Given the description of an element on the screen output the (x, y) to click on. 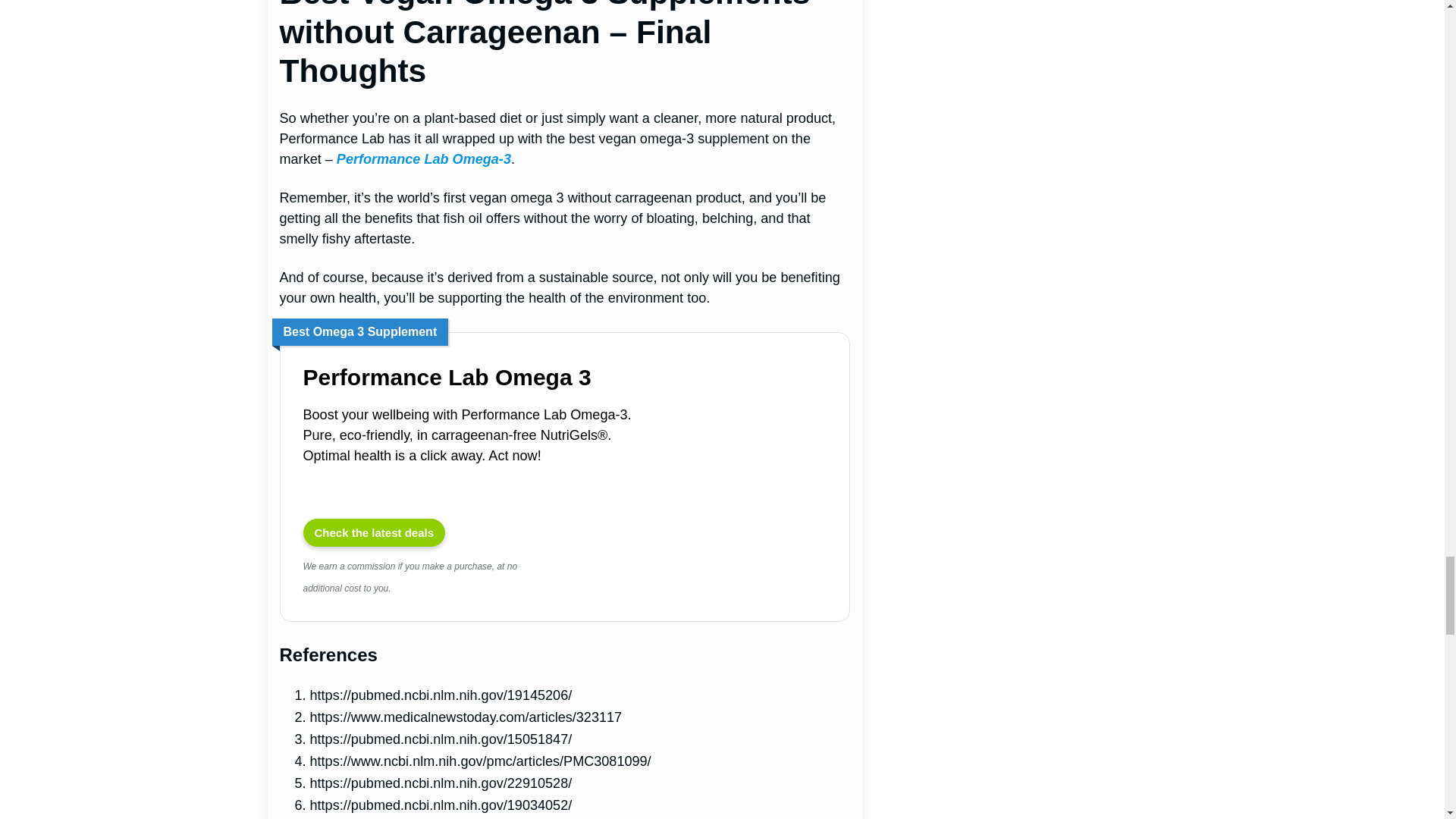
Check the latest deals (373, 532)
Performance Lab Omega-3 (423, 159)
Performance Lab Omega 3 (480, 376)
Performance Lab Omega 3 (373, 532)
Performance Lab Omega 3 (754, 499)
Performance Lab Omega 3 (480, 376)
